Given the description of an element on the screen output the (x, y) to click on. 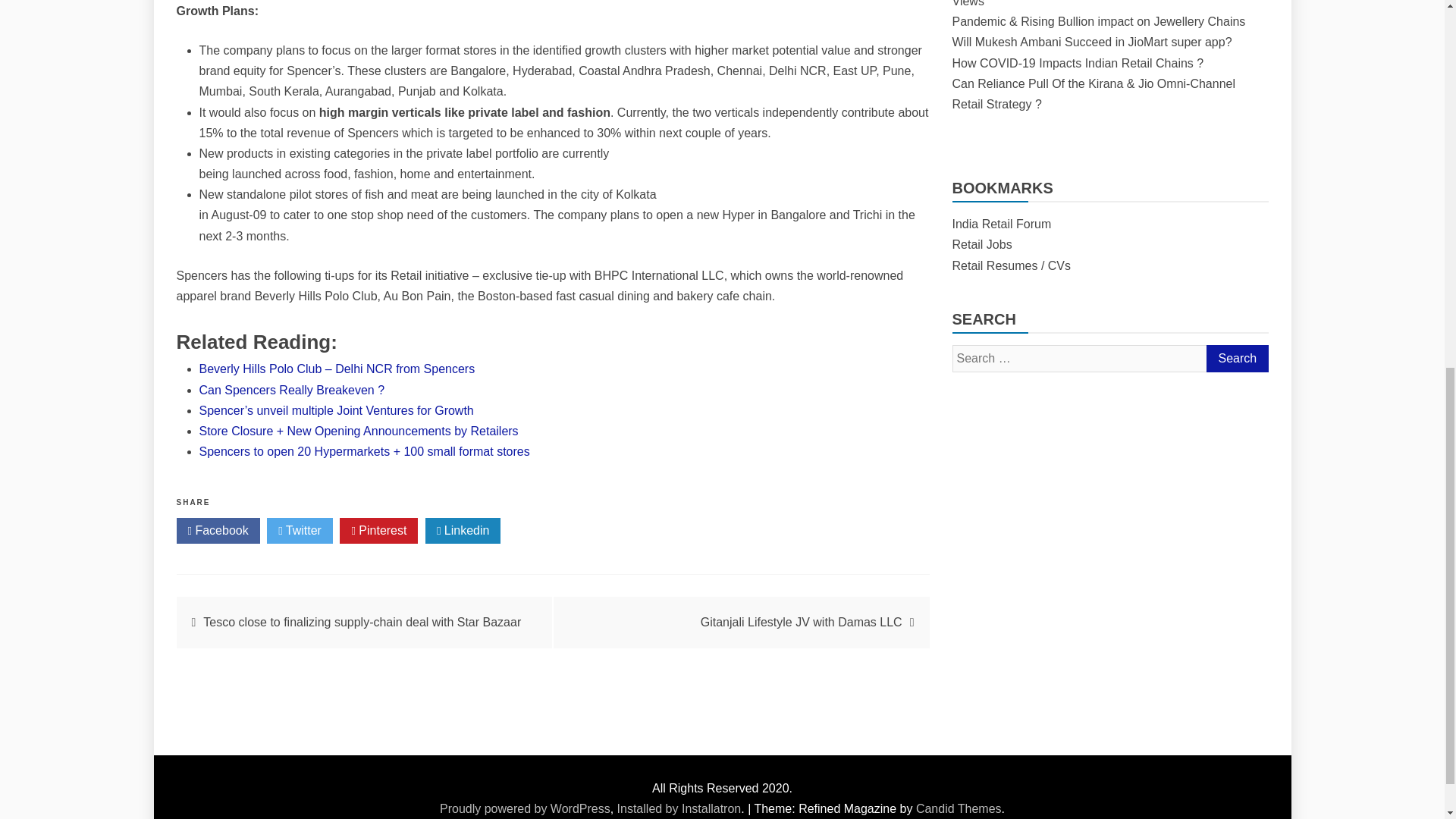
Twitter (299, 530)
Linkedin (462, 530)
Search (1236, 358)
Can Spencers Really Breakeven ? (291, 390)
Facebook (217, 530)
Search (1236, 358)
Tesco close to finalizing supply-chain deal with Star Bazaar (362, 621)
Pinterest (378, 530)
Gitanjali Lifestyle JV with Damas LLC (801, 621)
